Given the description of an element on the screen output the (x, y) to click on. 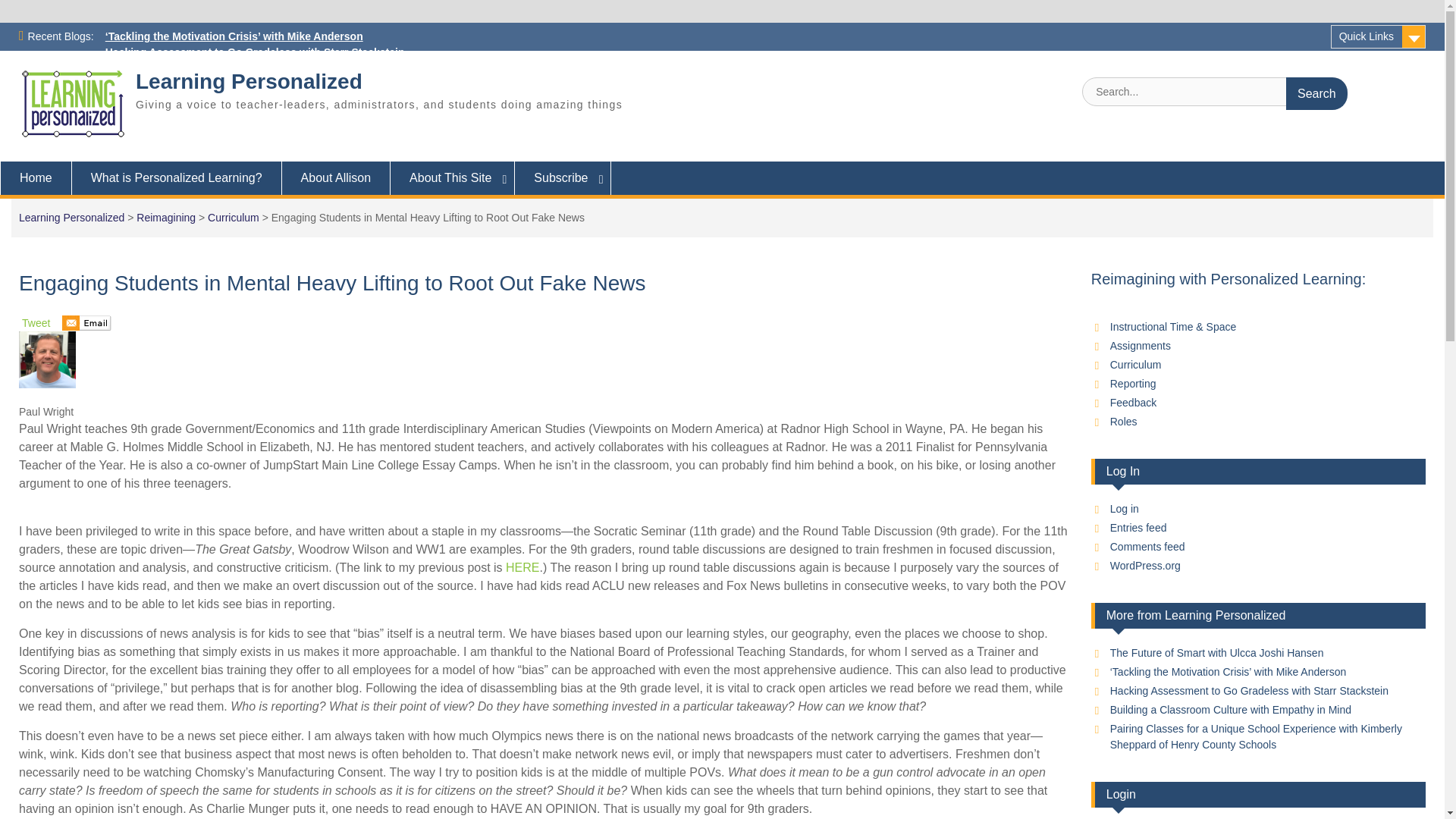
Search (1316, 92)
About Allison (336, 177)
Go to the Reimagining Category archives. (165, 217)
What is Personalized Learning? (176, 177)
Subscribe (563, 177)
About This Site (452, 177)
Learning Personalized (70, 217)
Search (1316, 92)
Quick Links (1377, 36)
Curriculum (233, 217)
